Given the description of an element on the screen output the (x, y) to click on. 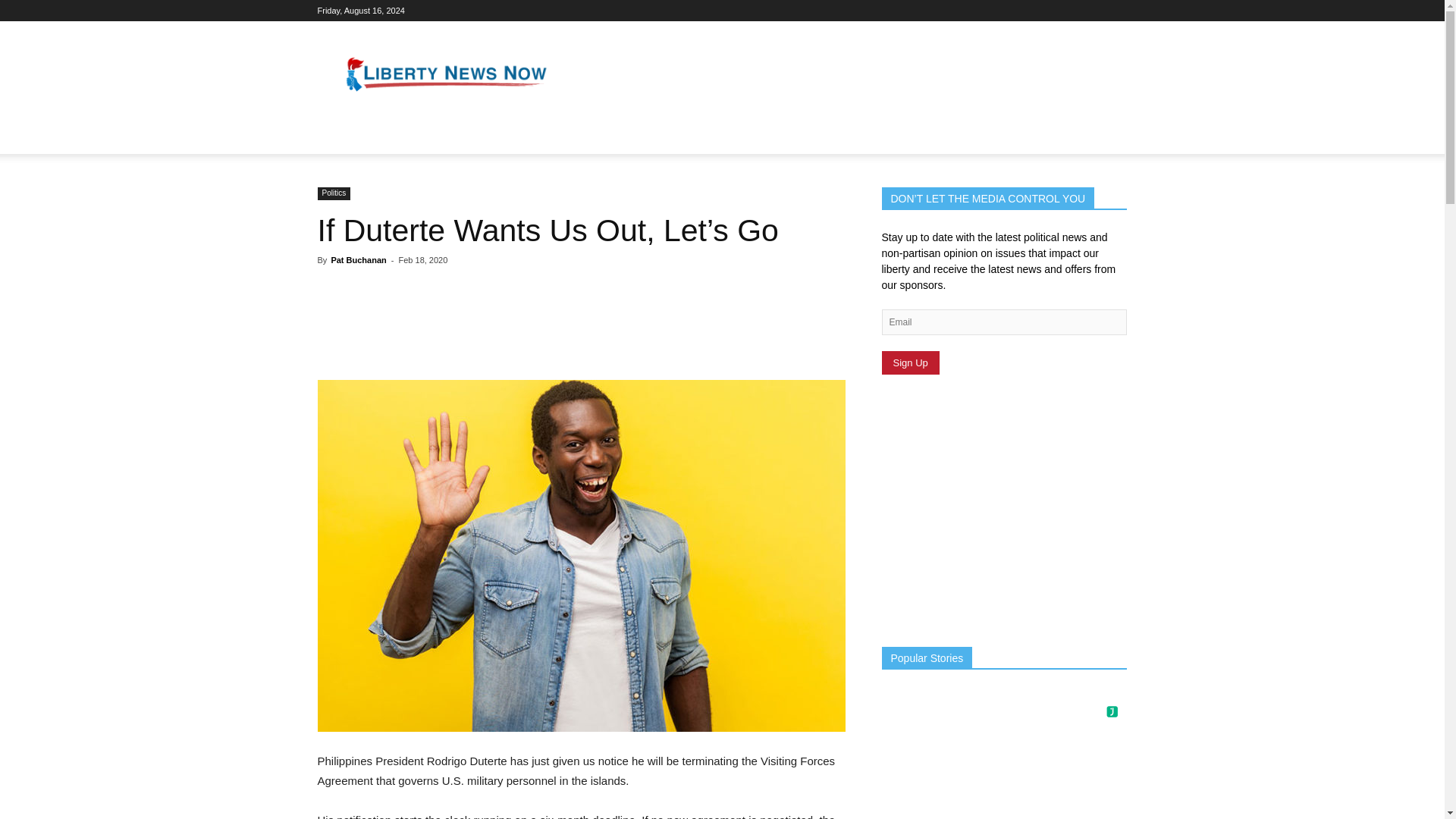
Sign Up (909, 362)
OPINION (491, 135)
Liberty News Now (445, 76)
CULTURE (422, 135)
POLITICS (352, 135)
